Given the description of an element on the screen output the (x, y) to click on. 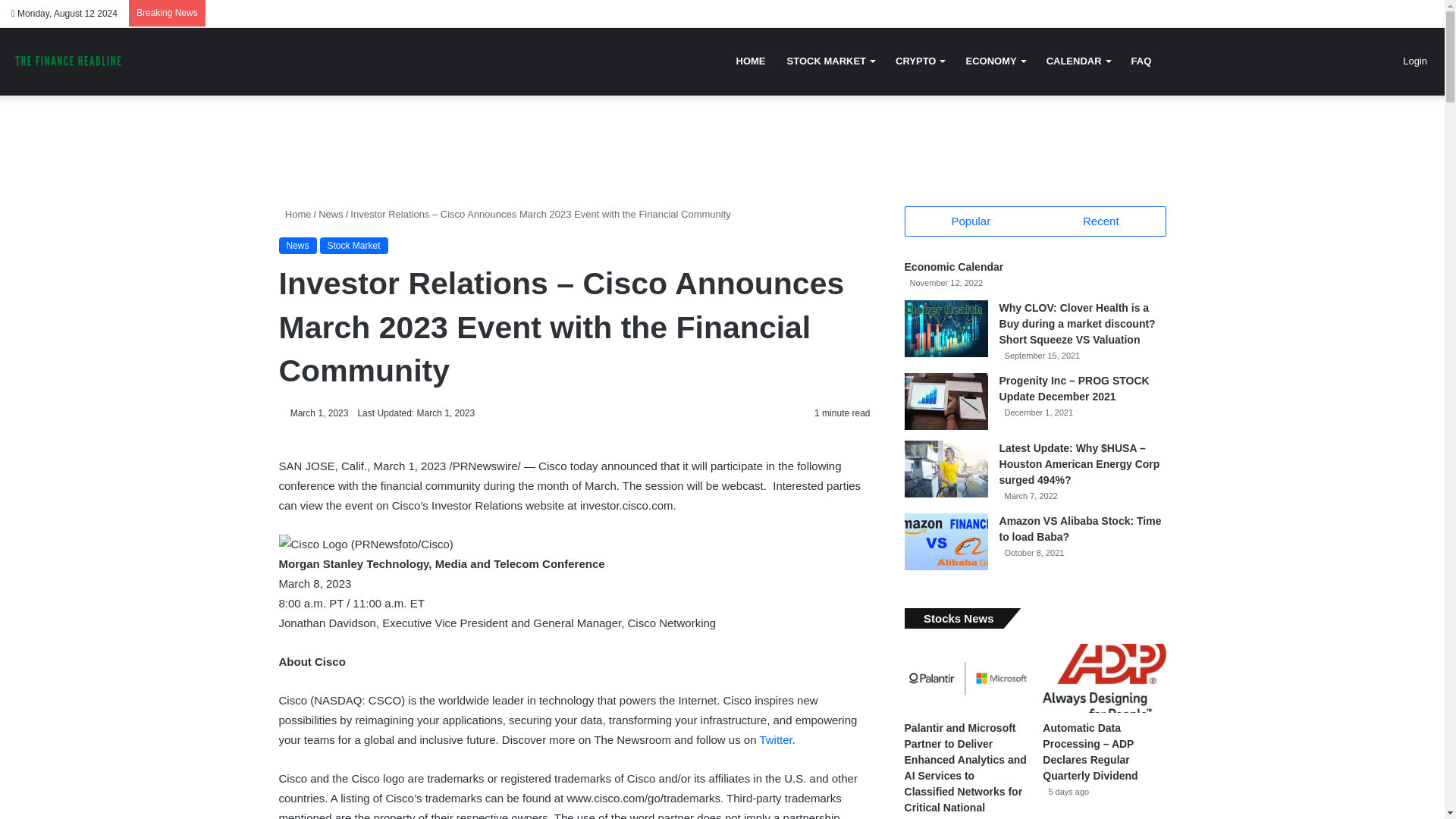
ECONOMY (995, 61)
STOCK MARKET (830, 61)
CALENDAR (1078, 61)
CRYPTO (920, 61)
The Finance Headline (68, 61)
